Given the description of an element on the screen output the (x, y) to click on. 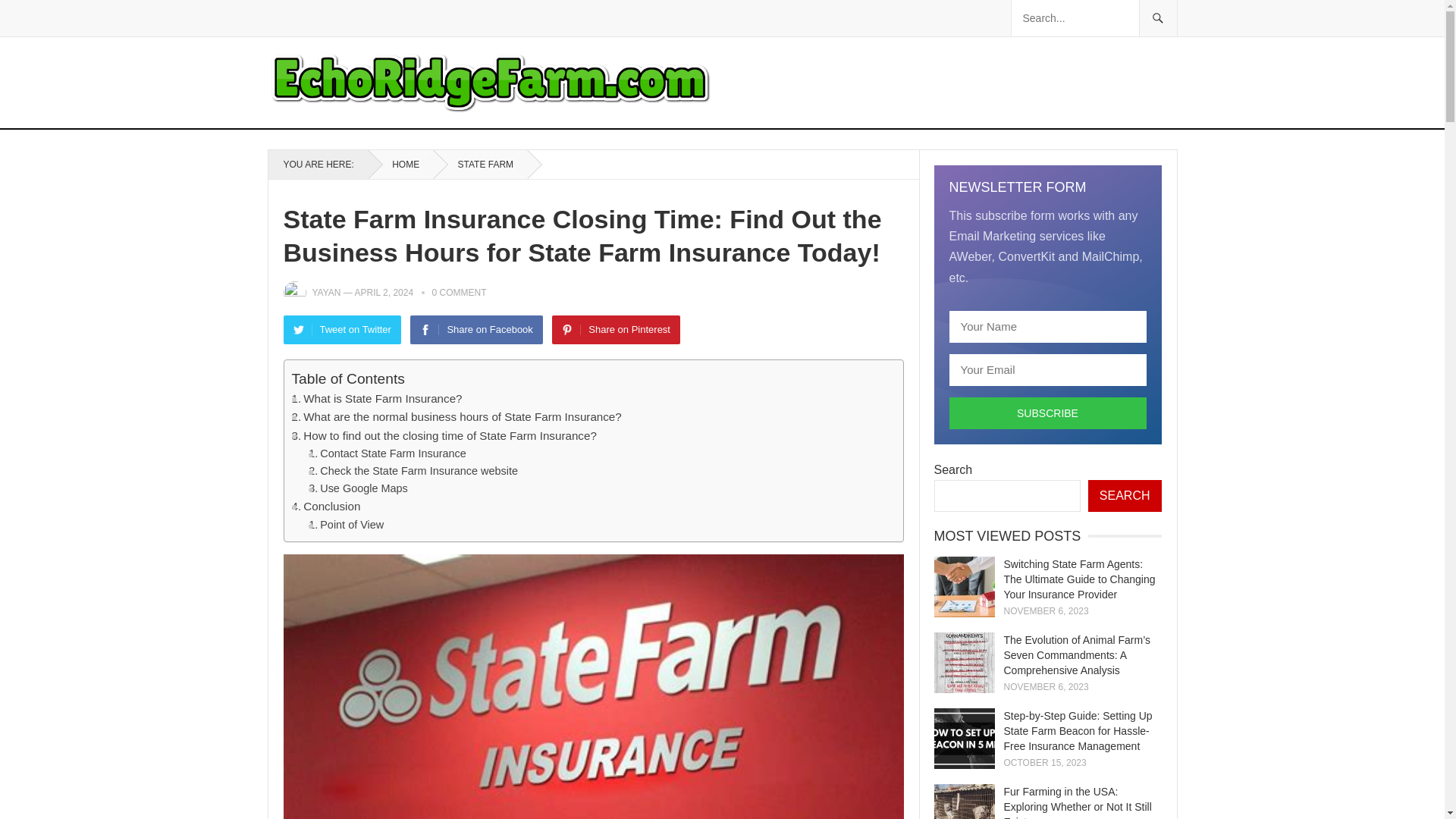
YAYAN (326, 292)
Point of View (346, 524)
What are the normal business hours of State Farm Insurance? (456, 416)
What is State Farm Insurance? (376, 398)
Check the State Farm Insurance website (413, 470)
Share on Facebook (475, 329)
HOME (400, 164)
What are the normal business hours of State Farm Insurance? (456, 416)
What is State Farm Insurance? (376, 398)
Share on Pinterest (615, 329)
View all posts in State Farm (480, 164)
How to find out the closing time of State Farm Insurance? (443, 435)
Contact State Farm Insurance (386, 453)
Use Google Maps (357, 488)
STATE FARM (480, 164)
